Given the description of an element on the screen output the (x, y) to click on. 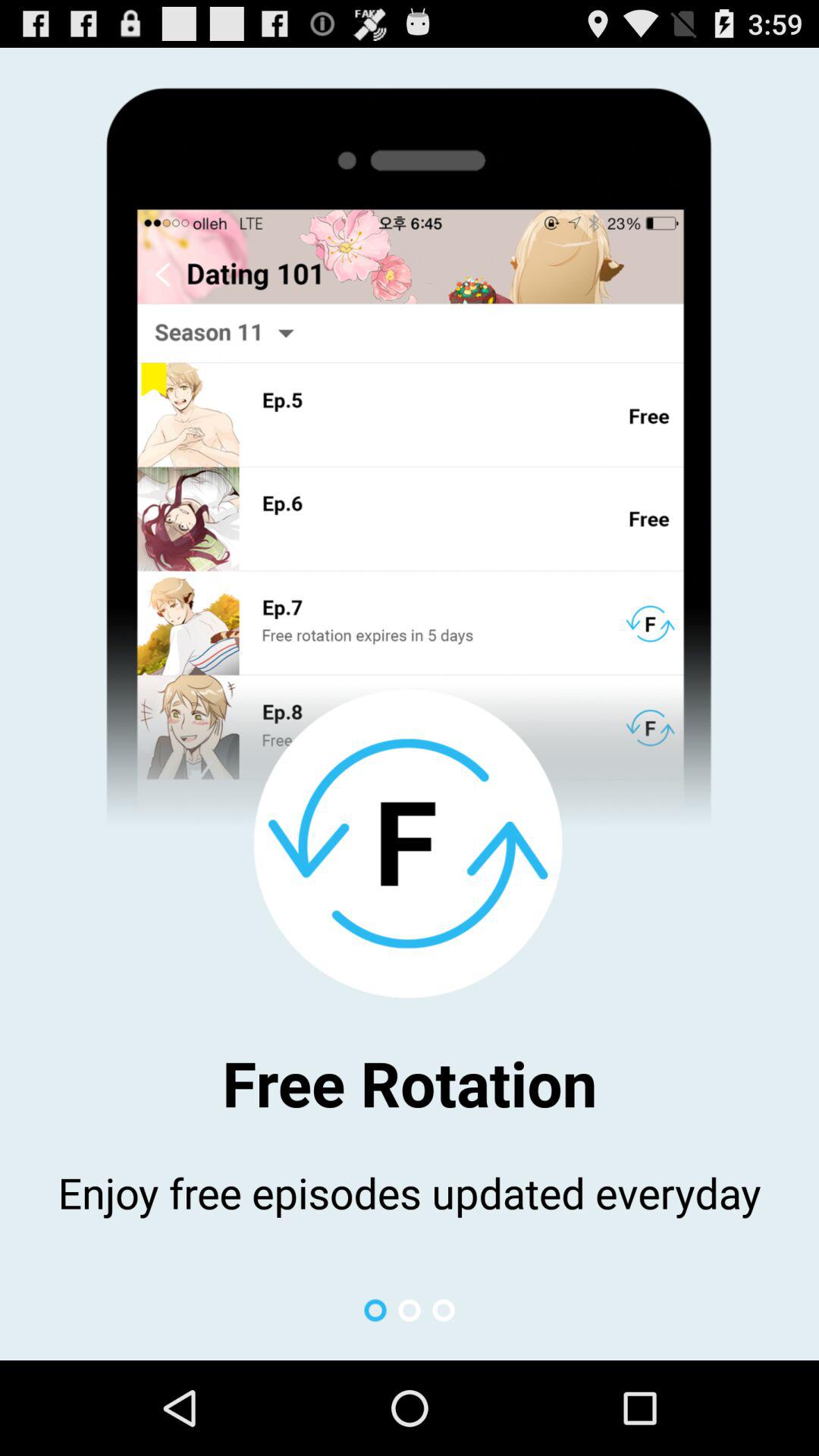
turn off icon below enjoy free episodes app (443, 1310)
